Given the description of an element on the screen output the (x, y) to click on. 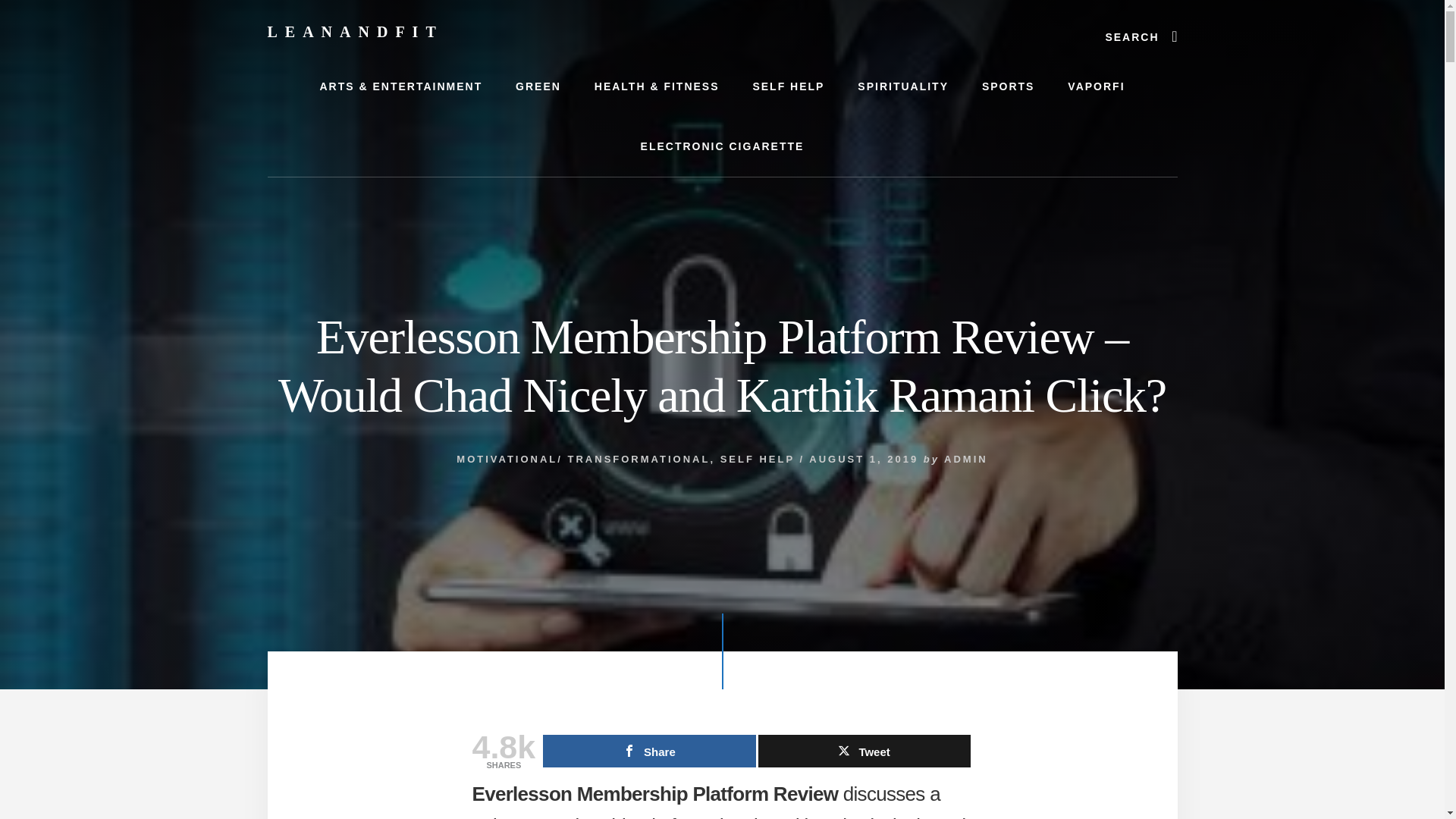
LEANANDFIT (354, 31)
GREEN (538, 86)
